Given the description of an element on the screen output the (x, y) to click on. 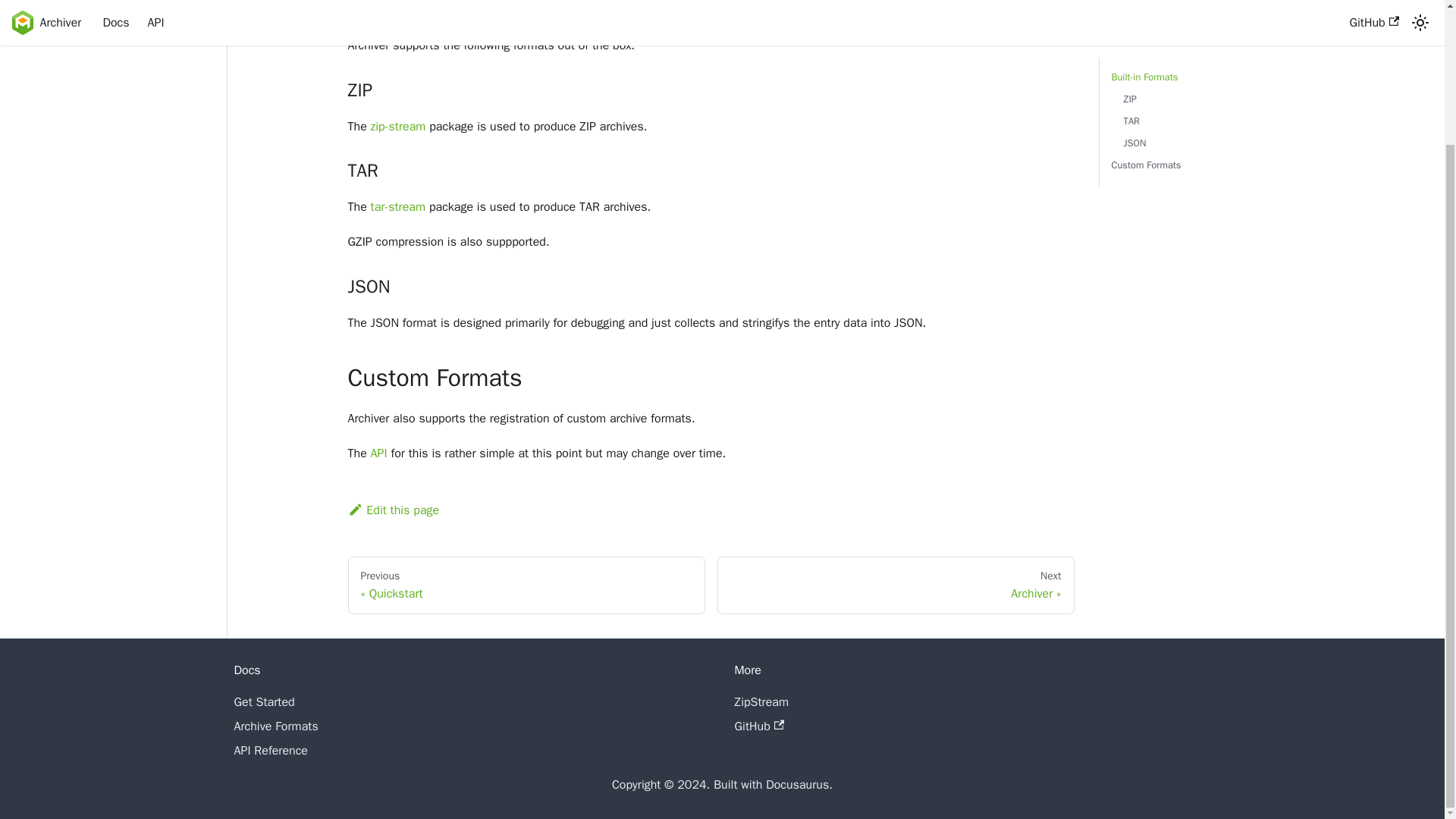
tar-stream (398, 206)
Get Started (263, 702)
Edit this page (393, 509)
GitHub (525, 585)
Archive Formats (758, 726)
ZipStream (1210, 10)
API (274, 726)
API Reference (895, 585)
zip-stream (761, 702)
Custom Formats (379, 453)
